Given the description of an element on the screen output the (x, y) to click on. 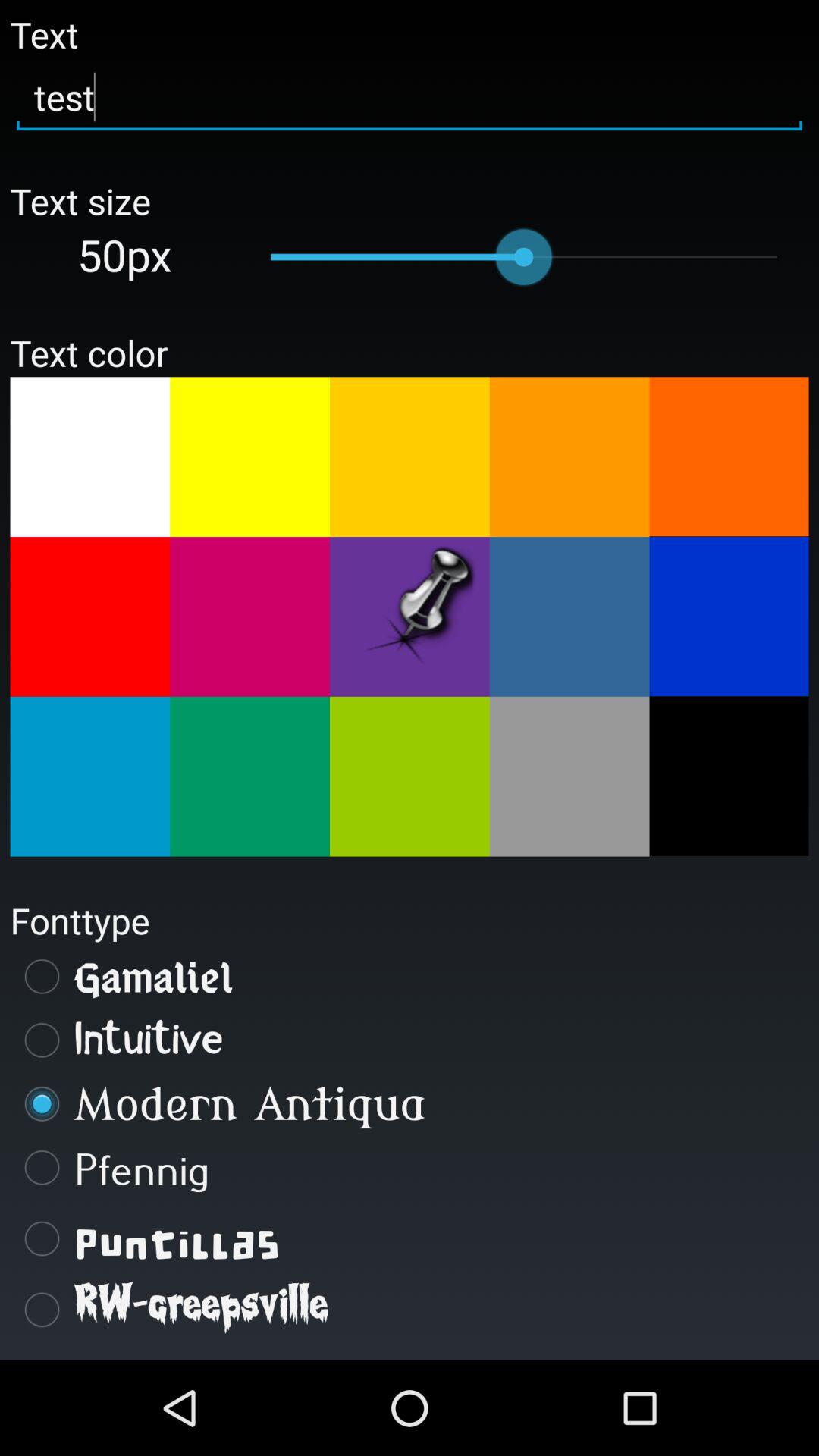
select light green color (249, 776)
